Given the description of an element on the screen output the (x, y) to click on. 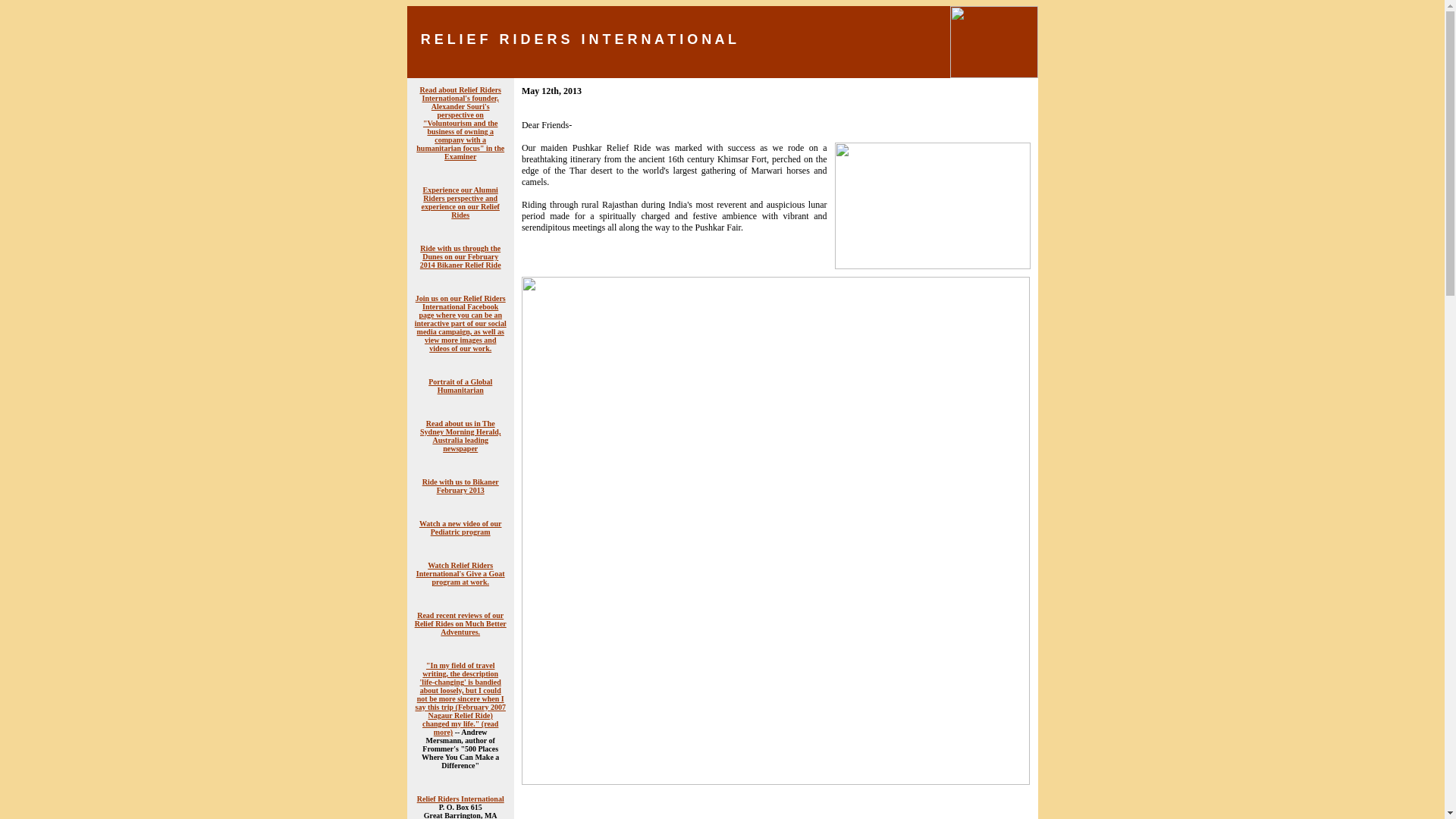
Portrait of a Global Humanitarian (460, 385)
Watch a new video of our Pediatric program (460, 527)
Ride with us to Bikaner February 2013 (460, 485)
Relief Riders International (459, 798)
